Given the description of an element on the screen output the (x, y) to click on. 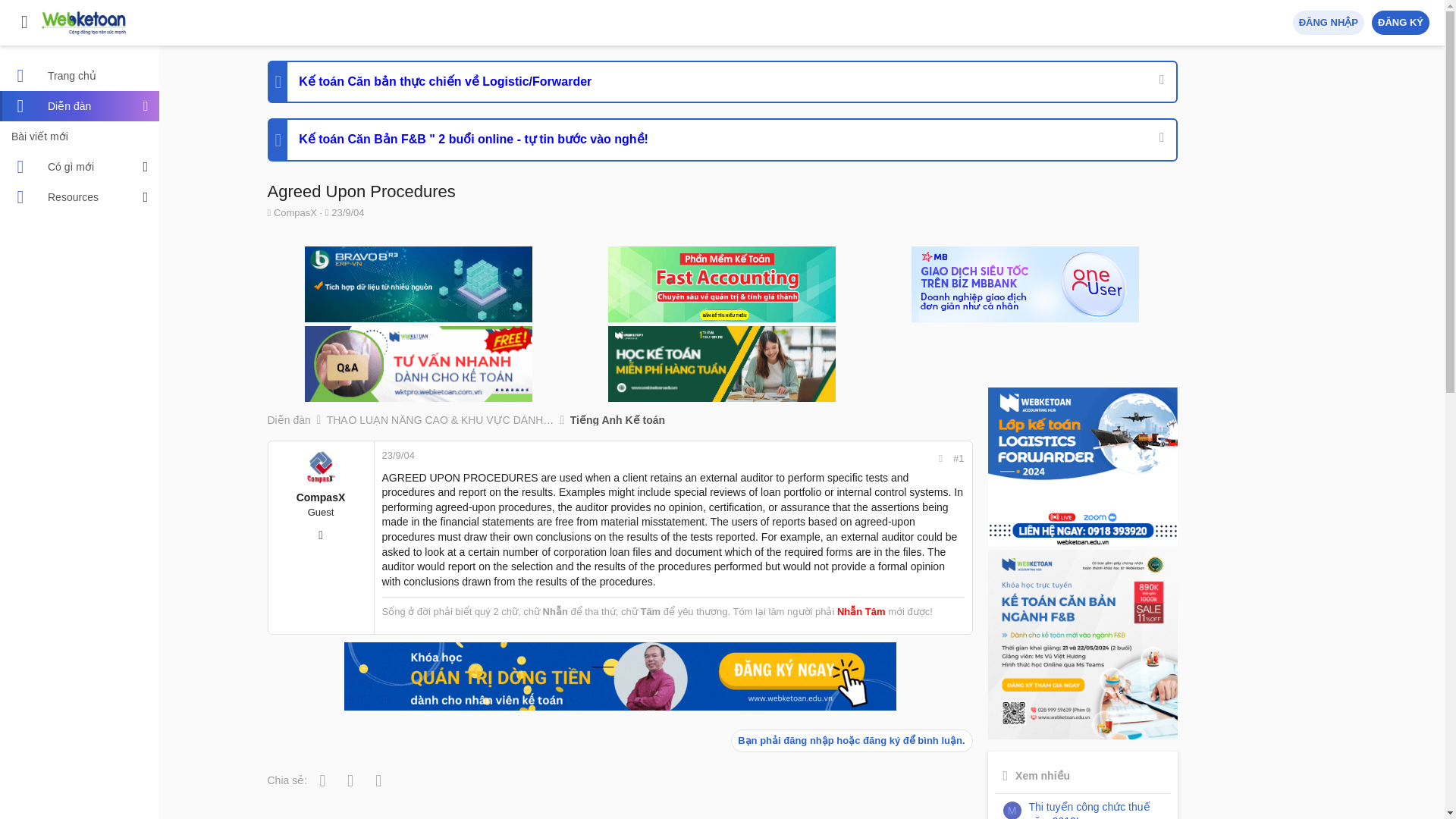
Thread starter (268, 212)
Resources (71, 196)
